Given the description of an element on the screen output the (x, y) to click on. 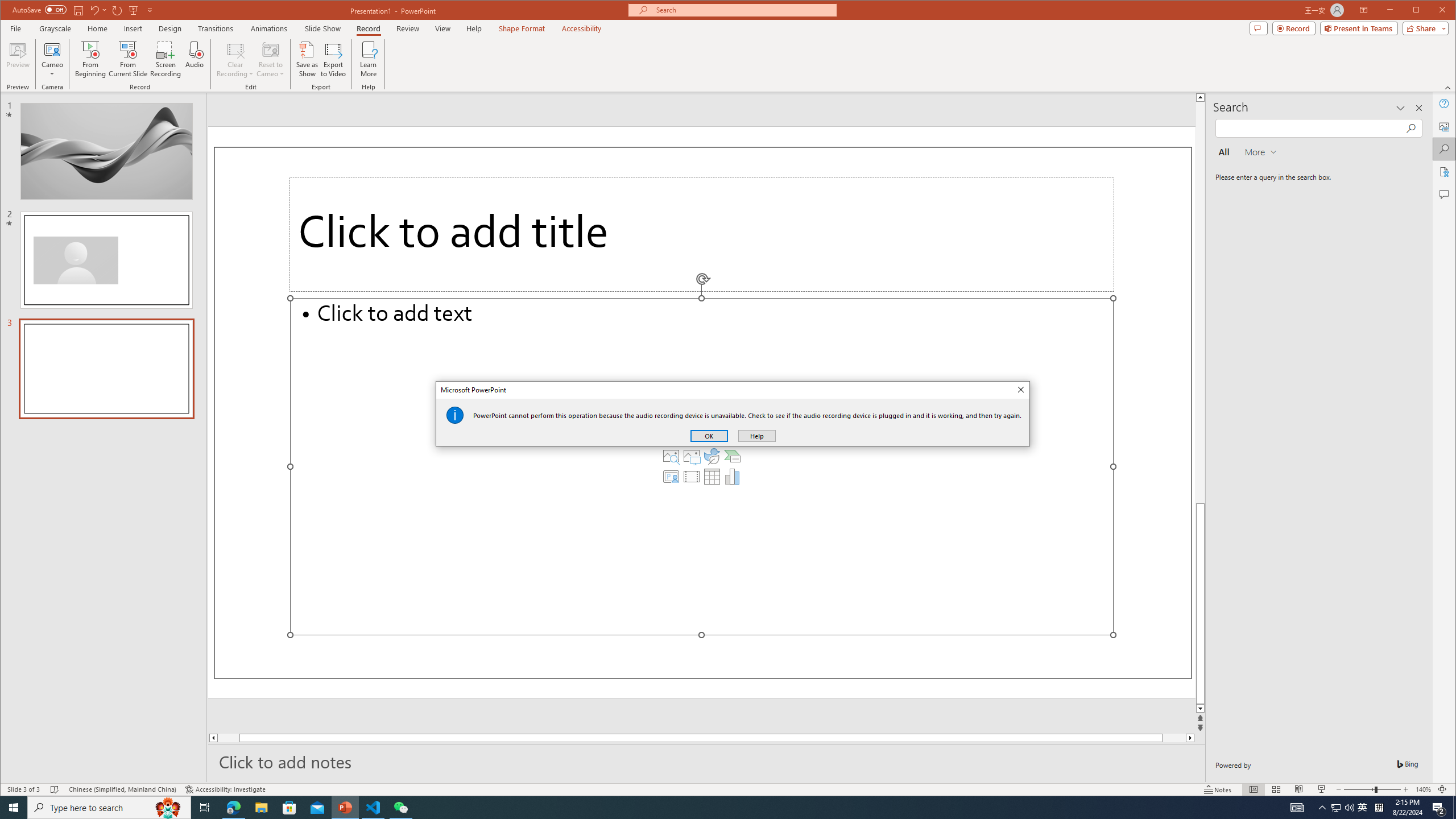
From Beginning... (90, 59)
